Given the description of an element on the screen output the (x, y) to click on. 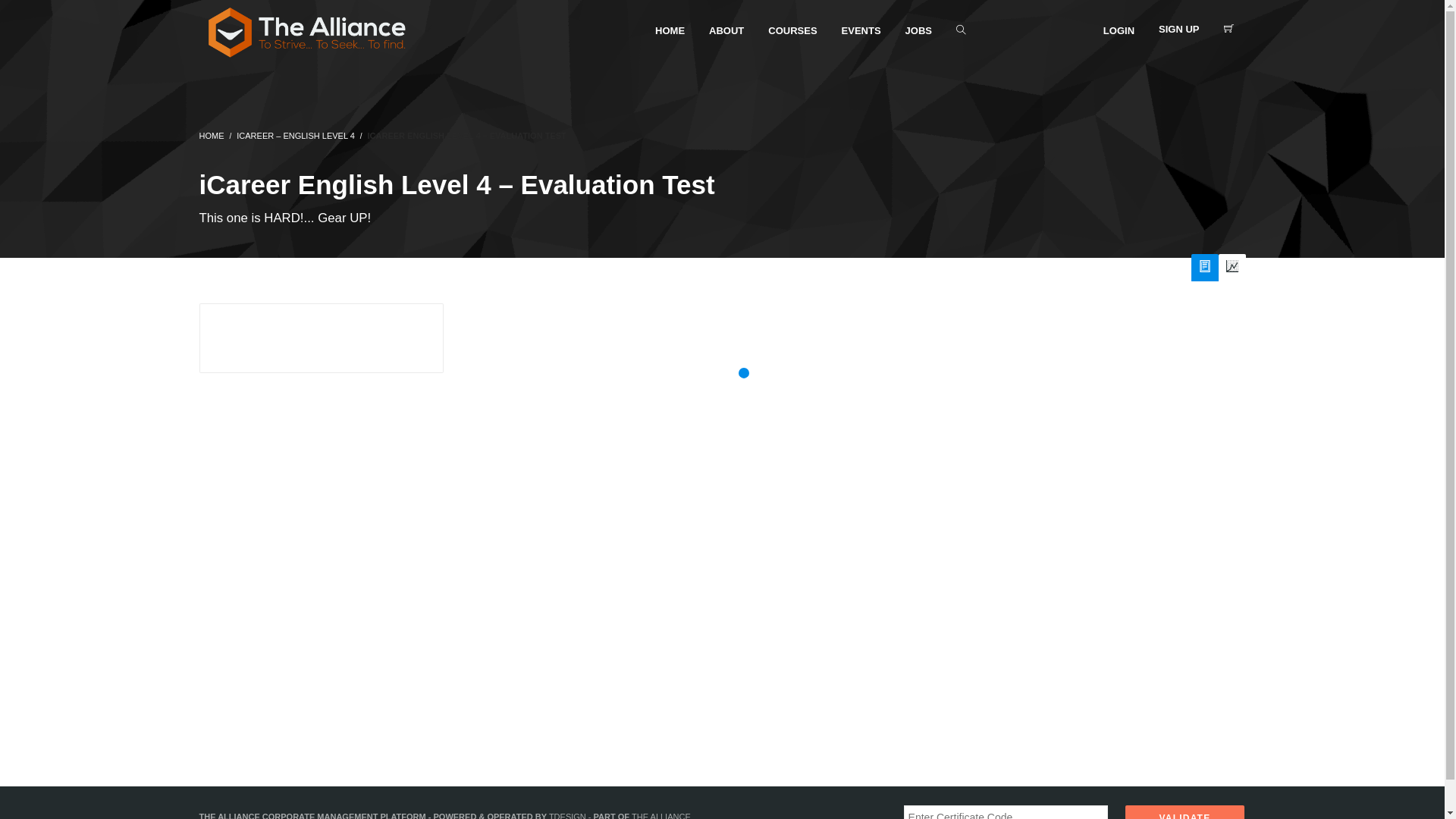
COURSES Element type: text (792, 30)
JOBS Element type: text (918, 30)
ABOUT Element type: text (726, 30)
HOME Element type: text (210, 135)
HOME Element type: text (669, 30)
EVENTS Element type: text (861, 30)
SIGN UP Element type: text (1178, 29)
LOGIN Element type: text (1118, 30)
